Given the description of an element on the screen output the (x, y) to click on. 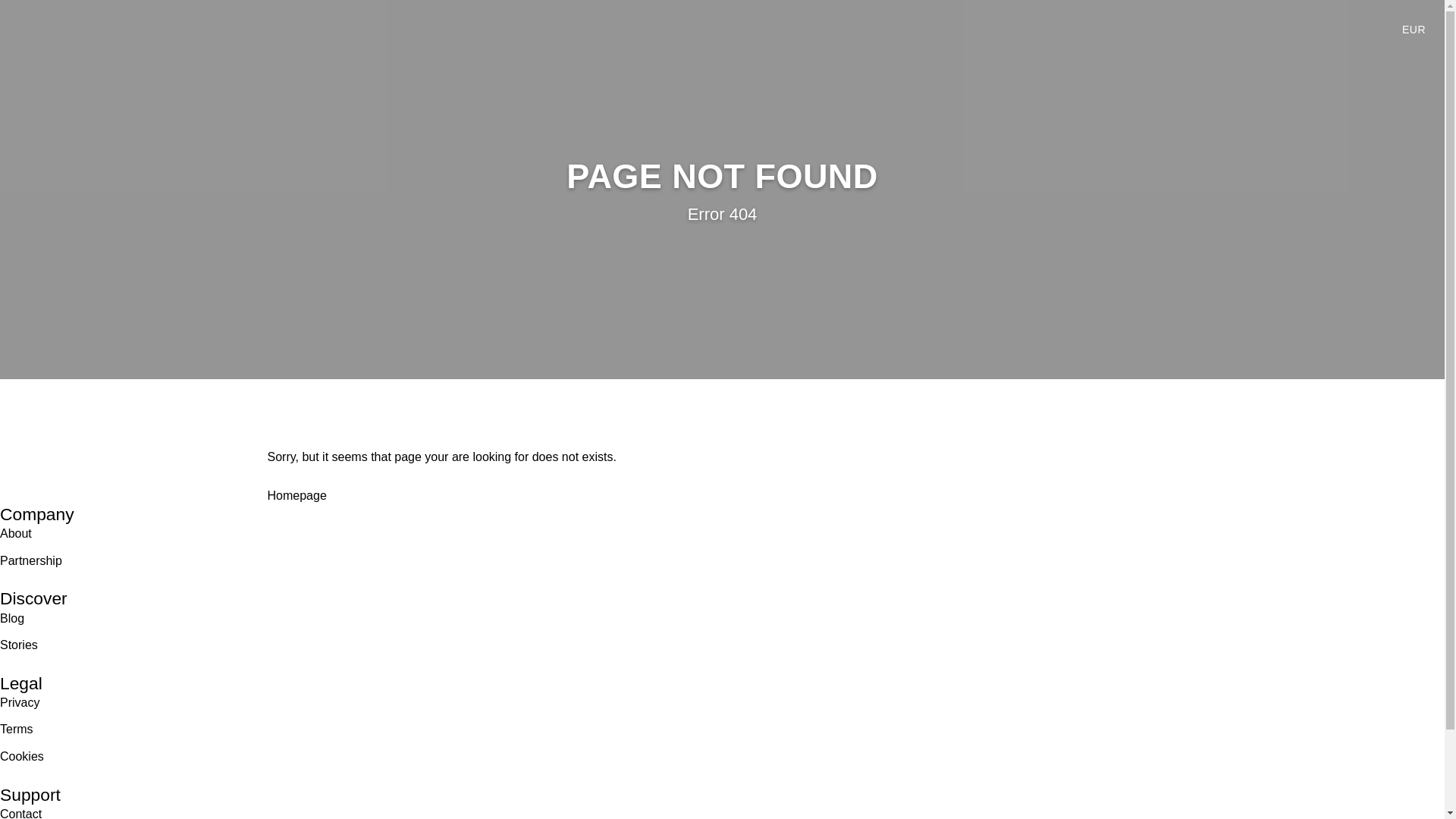
Stories (18, 645)
Cookies (21, 756)
Blog (12, 618)
Visitteo (56, 28)
Contact (21, 811)
Terms (16, 729)
About (16, 533)
EUR (1413, 29)
Homepage (296, 496)
Privacy (19, 702)
